Given the description of an element on the screen output the (x, y) to click on. 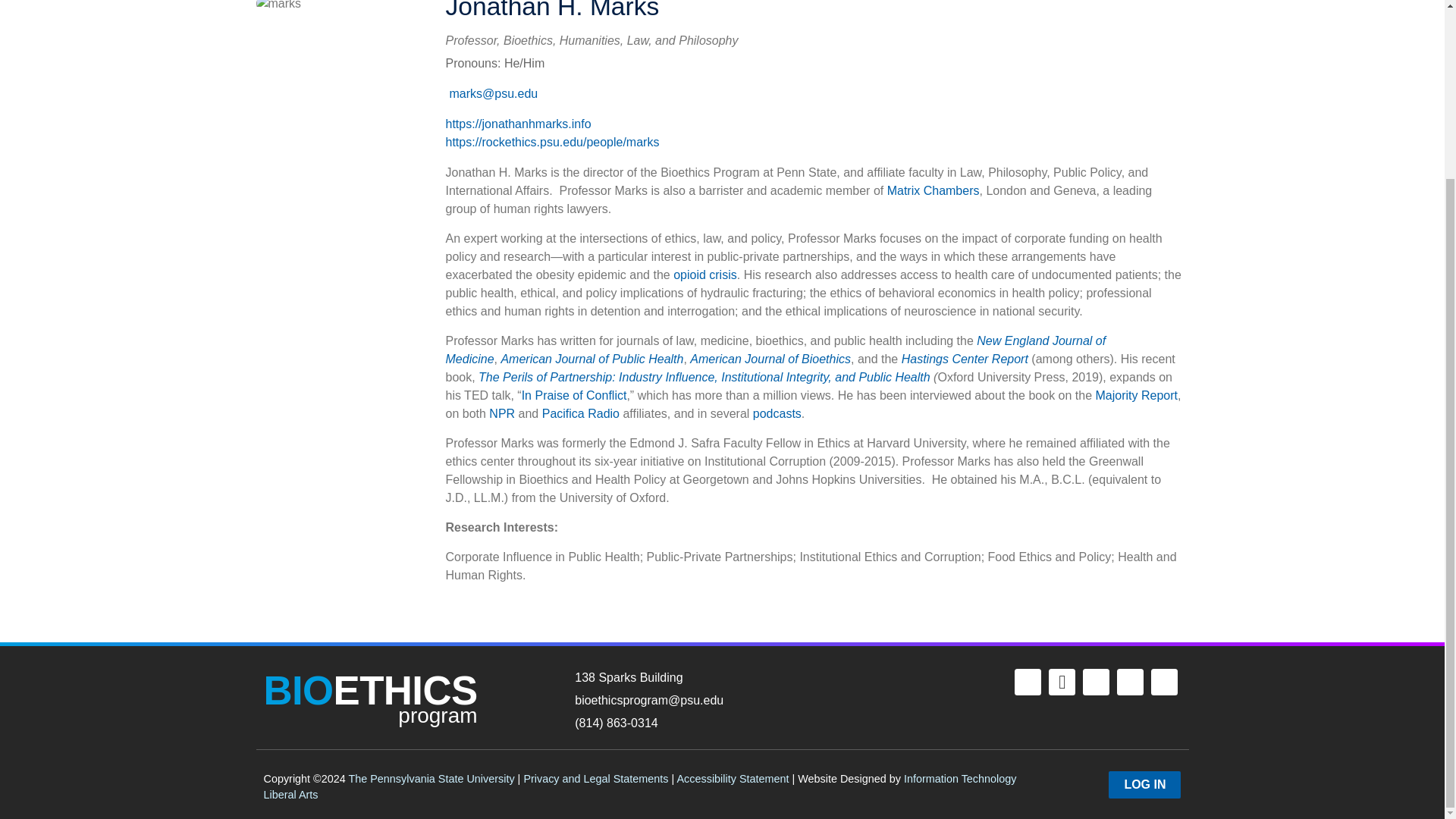
opioid crisis (704, 274)
In Praise of Conflict (574, 395)
Matrix Chambers (932, 190)
138 Sparks Building (751, 678)
New England Journal of Medicine (775, 349)
marks (278, 6)
Majority Report (370, 696)
